Given the description of an element on the screen output the (x, y) to click on. 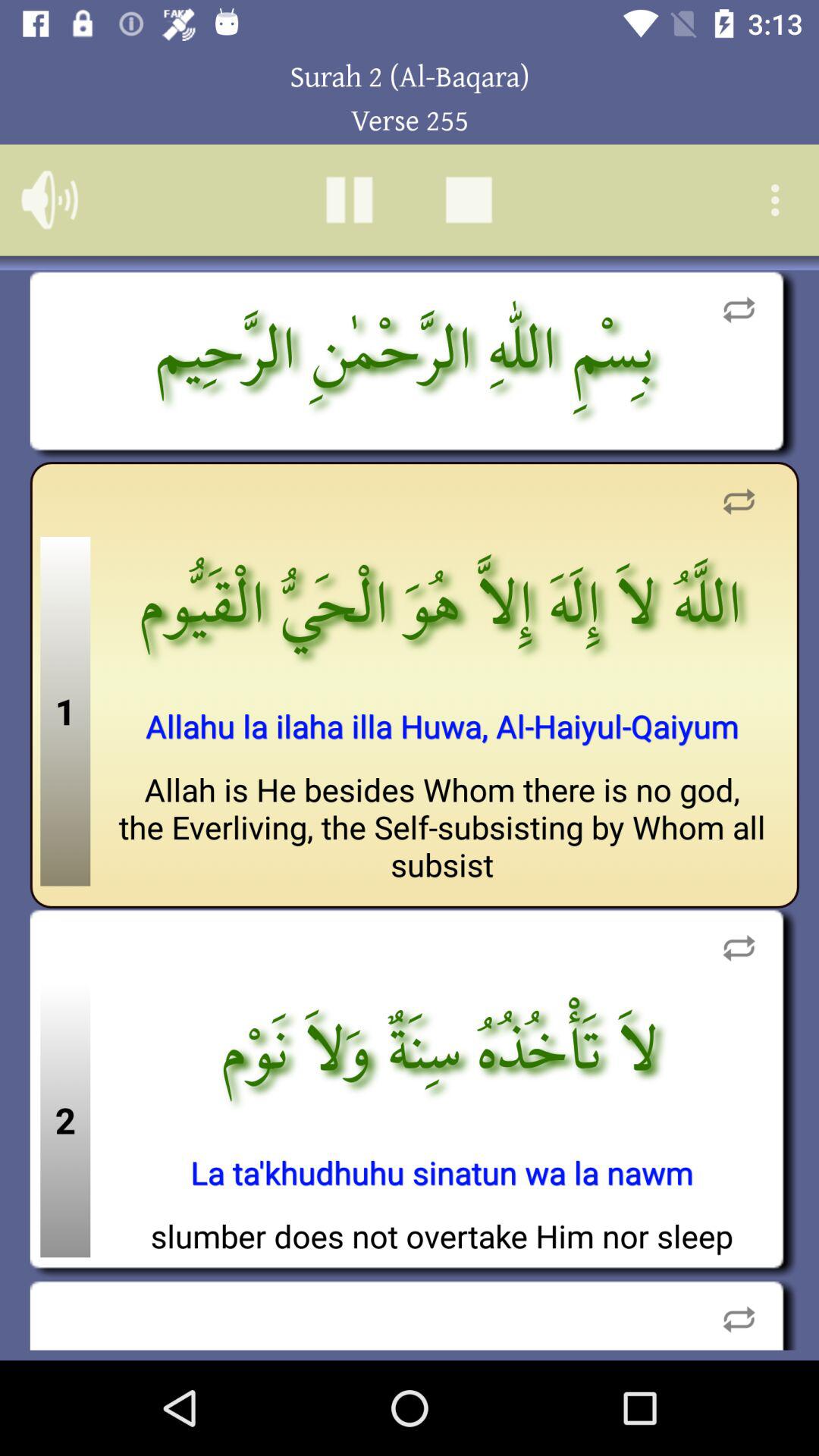
continuous play (738, 1314)
